Given the description of an element on the screen output the (x, y) to click on. 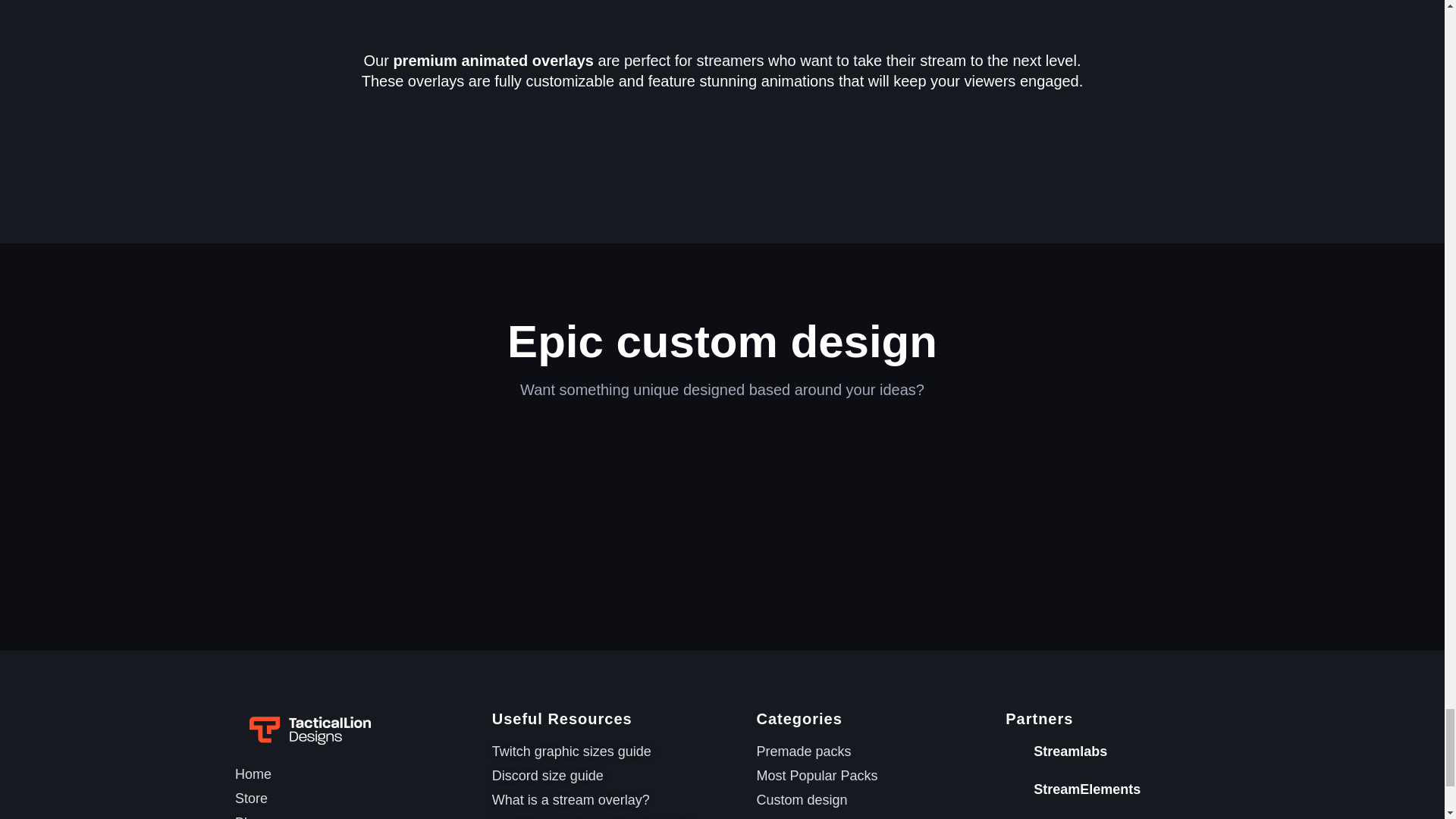
Store (355, 798)
Blog (355, 816)
Home (355, 774)
